Given the description of an element on the screen output the (x, y) to click on. 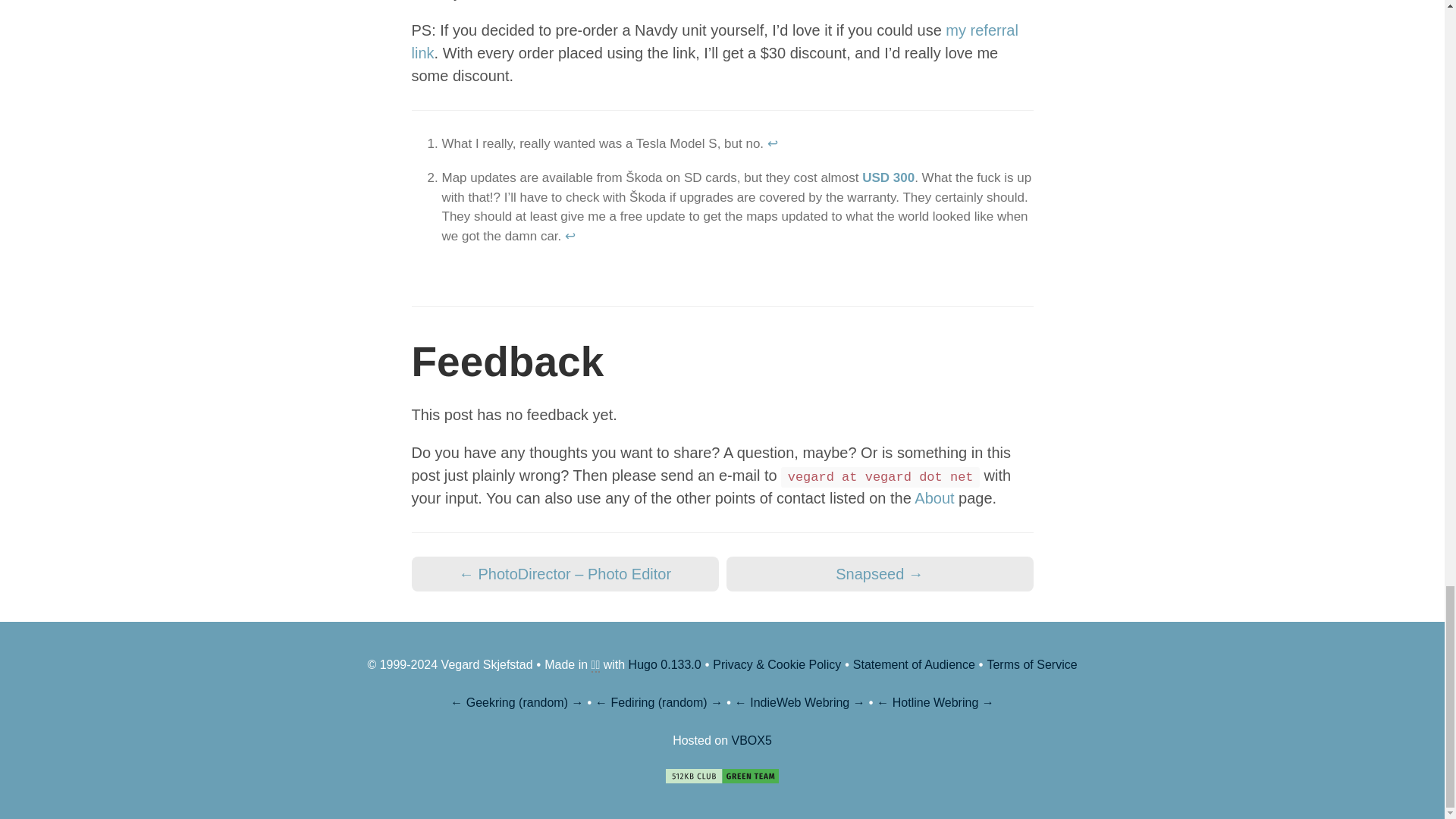
Statement of Audience (914, 664)
Geekring (490, 702)
Proud member of the 512KB Club Green Team. (721, 775)
IndieWeb Webring (798, 702)
Fediring (633, 702)
USD 300 (887, 177)
About (933, 497)
Terms of Service (1032, 664)
my referral link (713, 41)
Hugo 0.133.0 (664, 664)
